Given the description of an element on the screen output the (x, y) to click on. 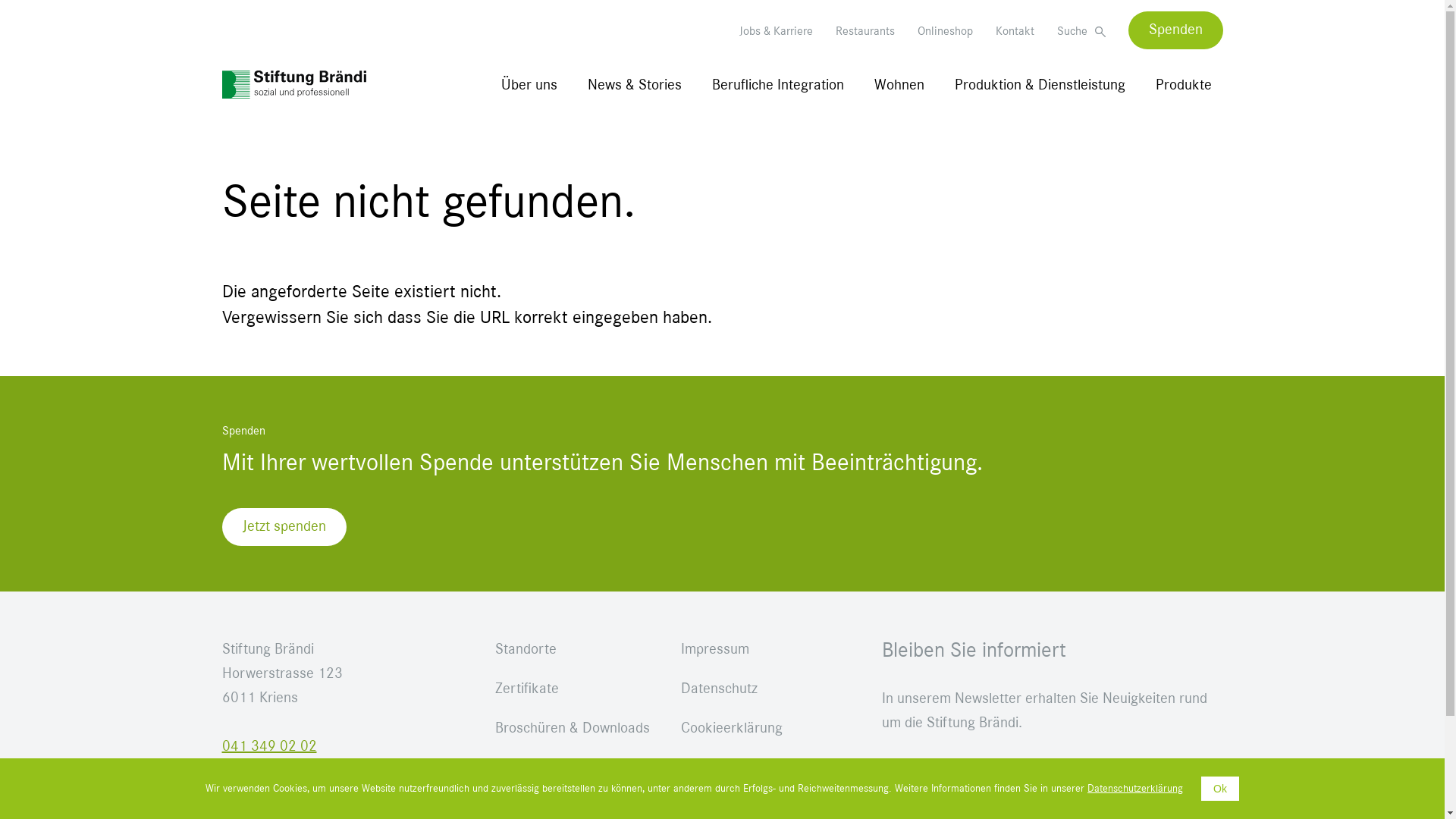
Ok Element type: text (1220, 788)
Jobs & Karriere Element type: text (775, 31)
Datenschutz Element type: text (758, 688)
Produktion & Dienstleistung Element type: text (1039, 84)
AGB Element type: text (758, 767)
Onlineshop Element type: text (944, 31)
stiftung@braendi.ch Element type: text (282, 770)
Kontakt Element type: text (1013, 31)
Medien Element type: text (571, 767)
Spenden Element type: text (1175, 30)
Zertifikate Element type: text (571, 688)
Restaurants Element type: text (864, 31)
News & Stories Element type: text (634, 84)
Home Element type: hover (293, 84)
Wohnen Element type: text (898, 84)
Berufliche Integration Element type: text (777, 84)
Jetzt spenden Element type: text (283, 527)
Suche Element type: text (1081, 31)
Produkte Element type: text (1182, 84)
041 349 02 02 Element type: text (268, 745)
Standorte Element type: text (571, 649)
Impressum Element type: text (758, 649)
Newsletter abonnieren Element type: text (971, 783)
